Given the description of an element on the screen output the (x, y) to click on. 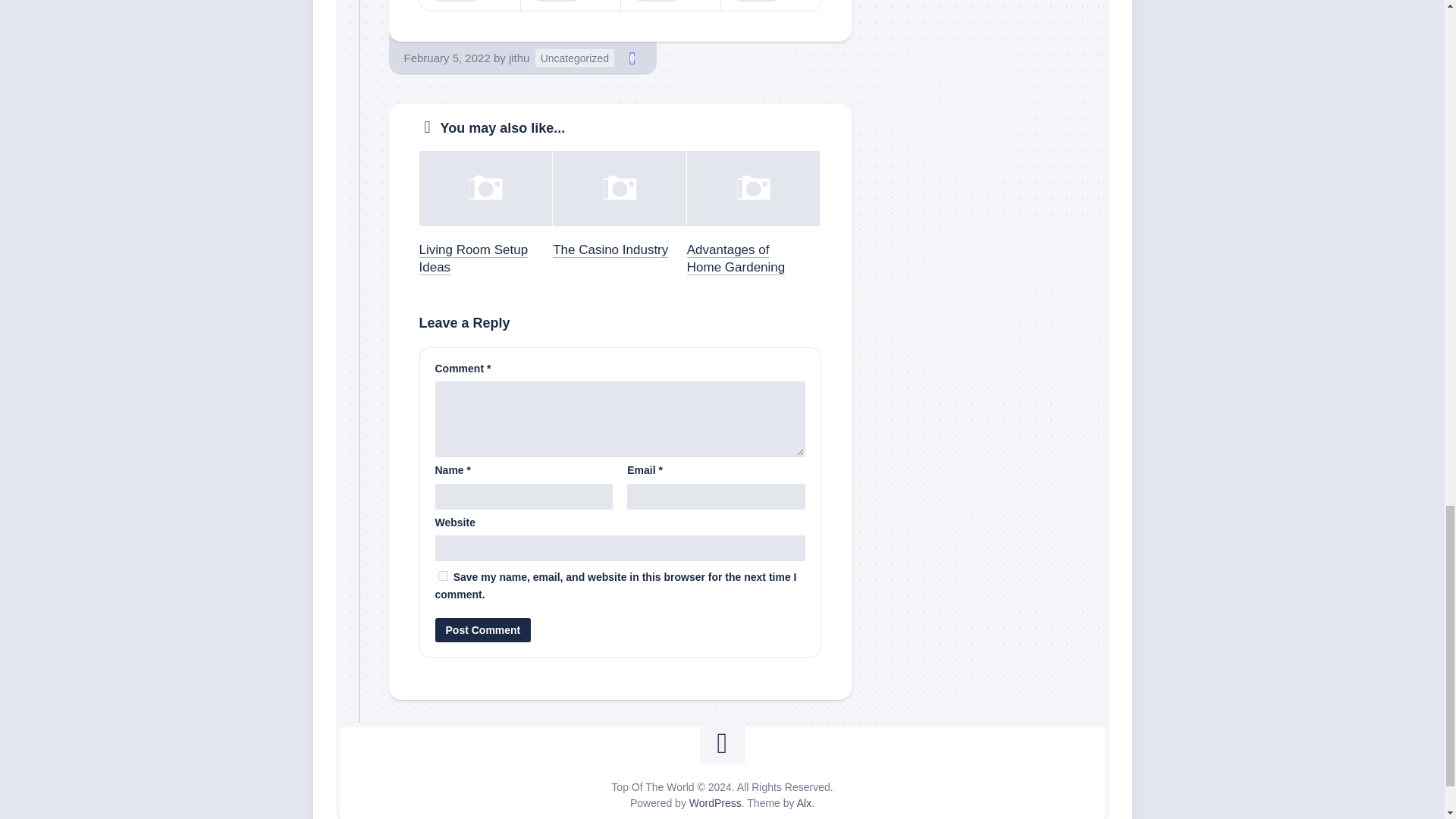
Living Room Setup Ideas (473, 258)
Posts by jithu (518, 57)
jithu (518, 57)
Uncategorized (574, 58)
Advantages of Home Gardening (735, 258)
Share on LinkedIn (770, 5)
yes (443, 575)
The Casino Industry (610, 249)
0 (632, 58)
Share on X (469, 5)
Share on Facebook (569, 5)
Post Comment (483, 630)
Post Comment (483, 630)
Share on Pinterest (670, 5)
